Given the description of an element on the screen output the (x, y) to click on. 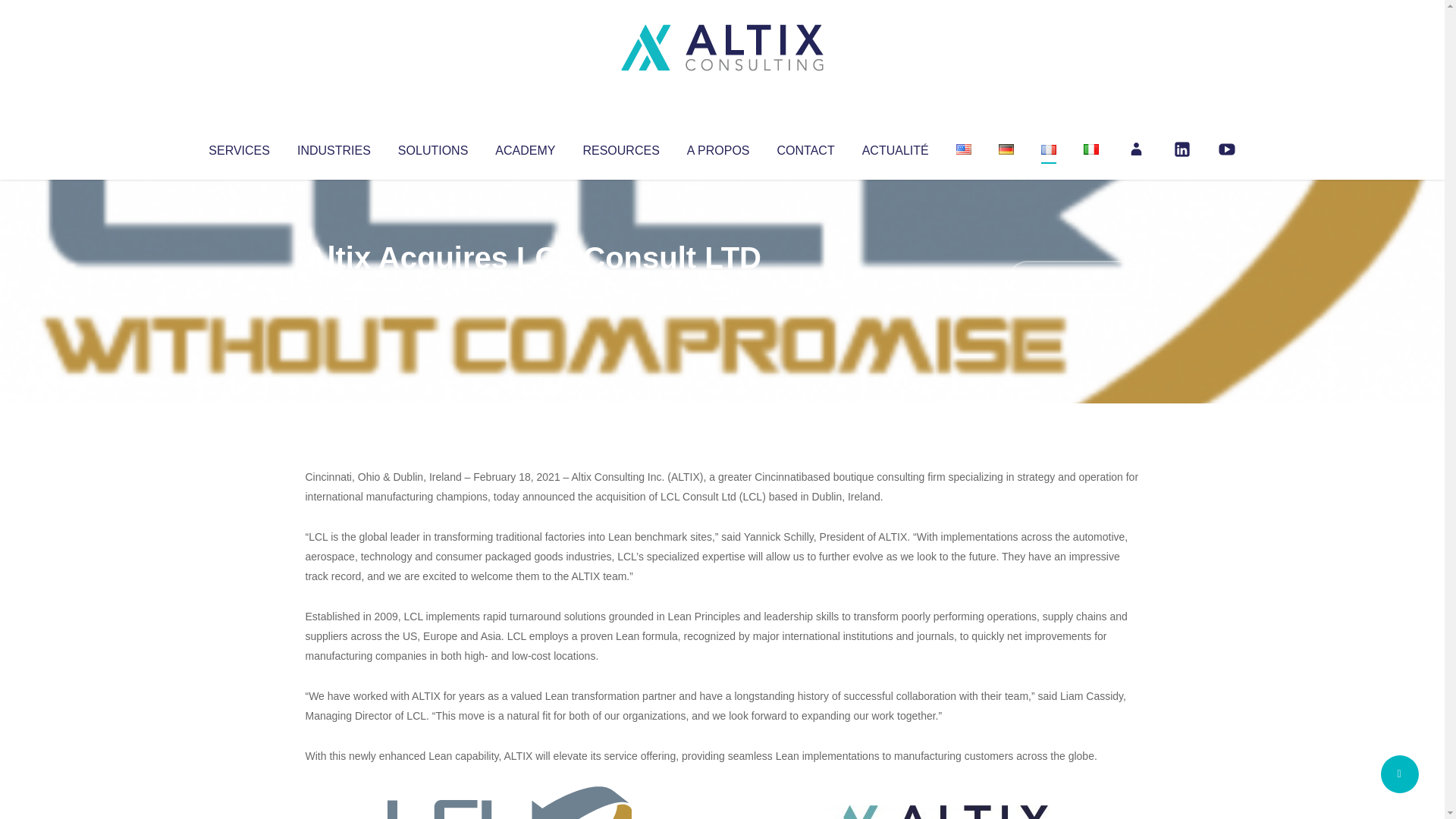
Articles par Altix (333, 287)
RESOURCES (620, 146)
A PROPOS (718, 146)
No Comments (1073, 278)
SOLUTIONS (432, 146)
SERVICES (238, 146)
ACADEMY (524, 146)
Uncategorized (530, 287)
INDUSTRIES (334, 146)
Altix (333, 287)
